Given the description of an element on the screen output the (x, y) to click on. 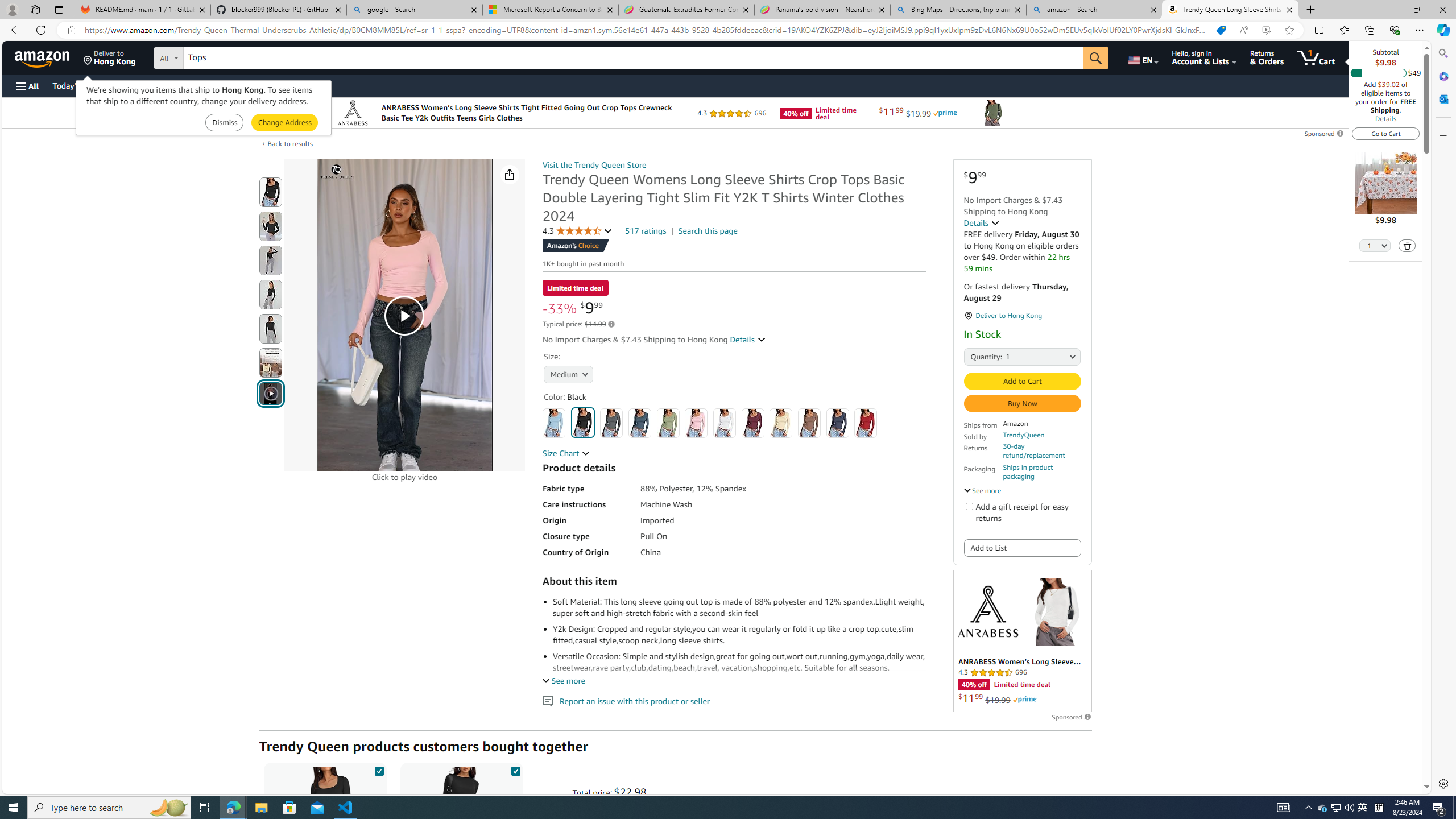
Details  (981, 222)
Buy Now (1021, 403)
Navy (837, 422)
